Given the description of an element on the screen output the (x, y) to click on. 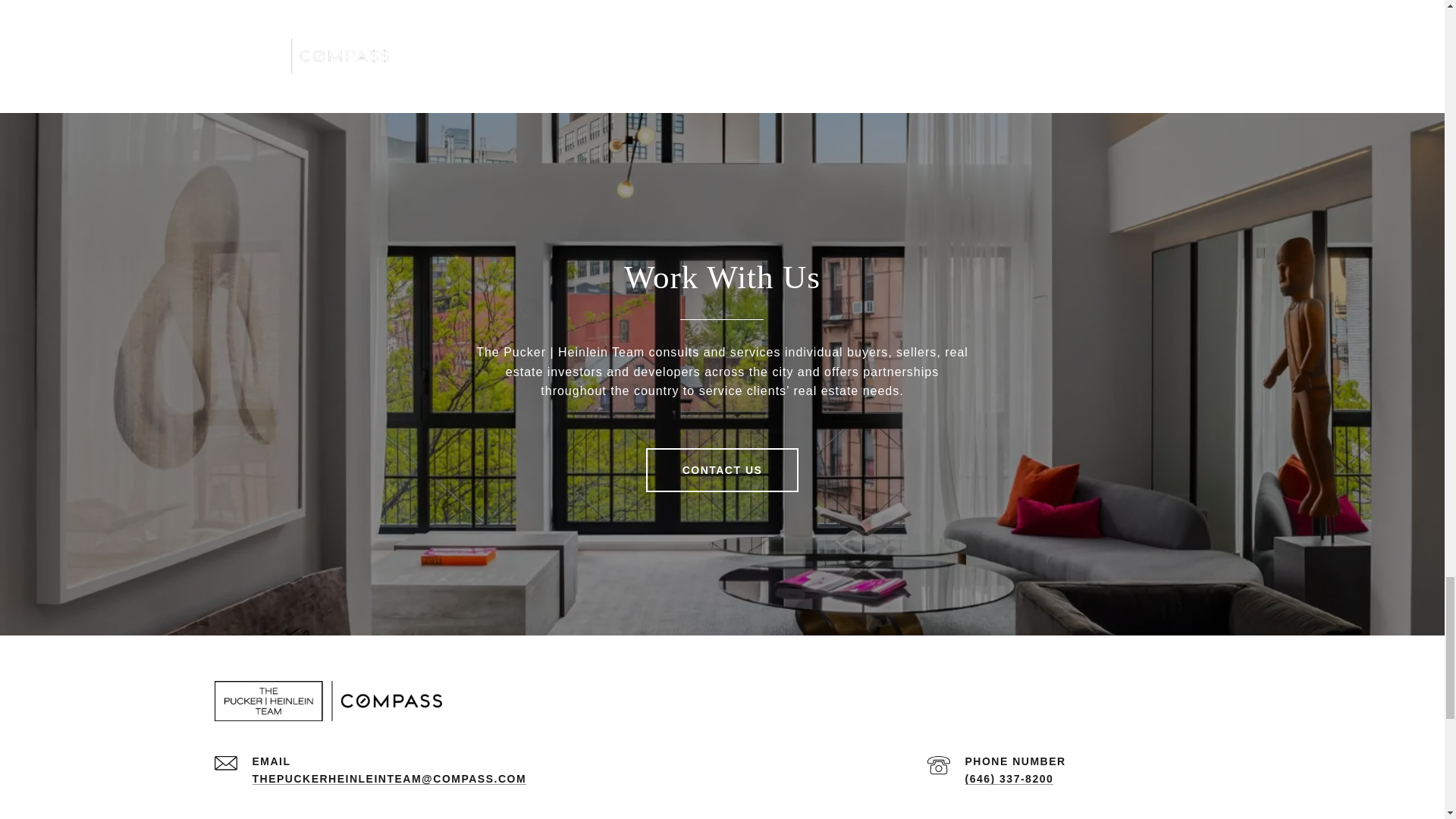
CONTACT US (722, 469)
